Given the description of an element on the screen output the (x, y) to click on. 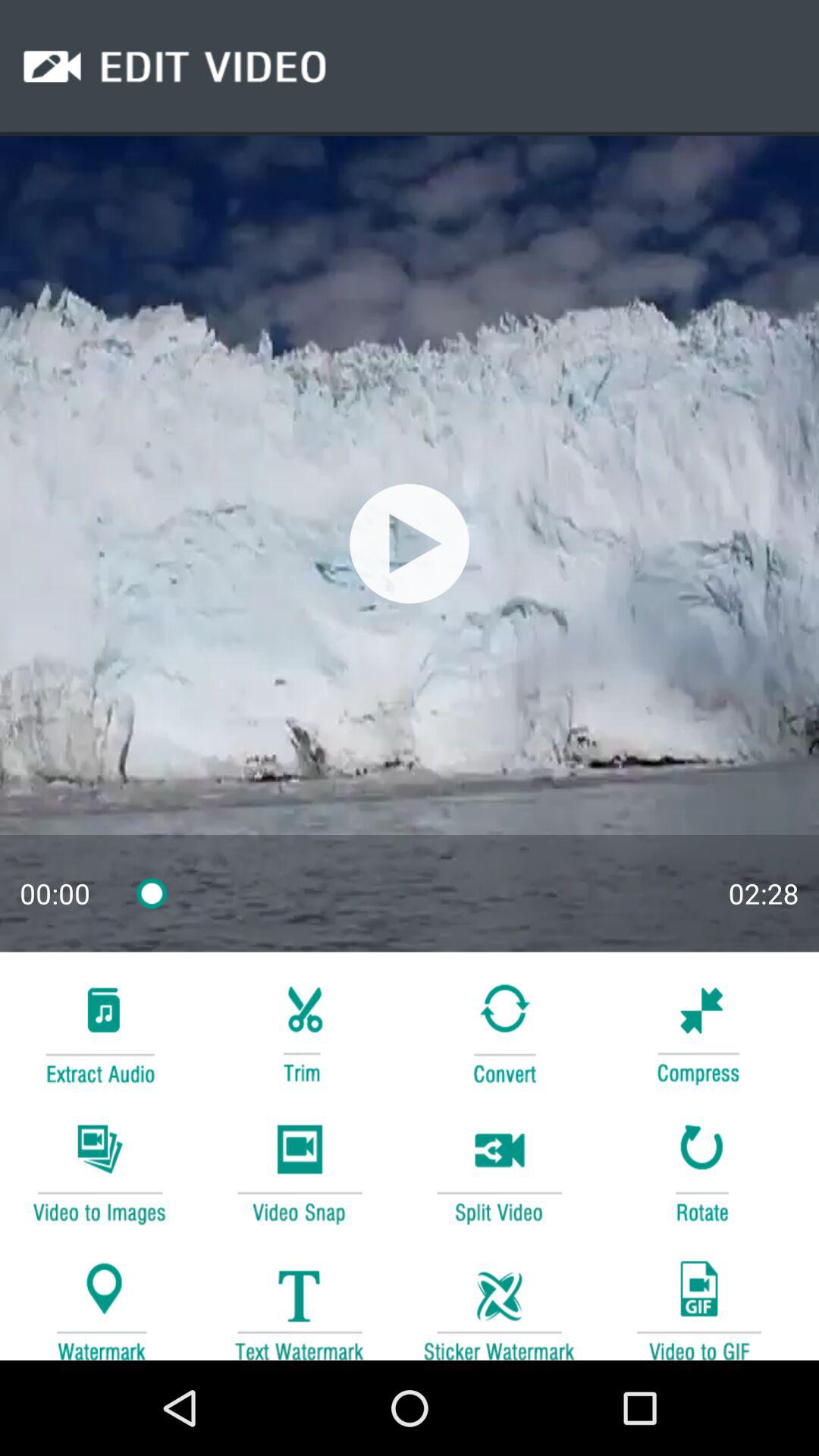
change video to gif (698, 1303)
